Given the description of an element on the screen output the (x, y) to click on. 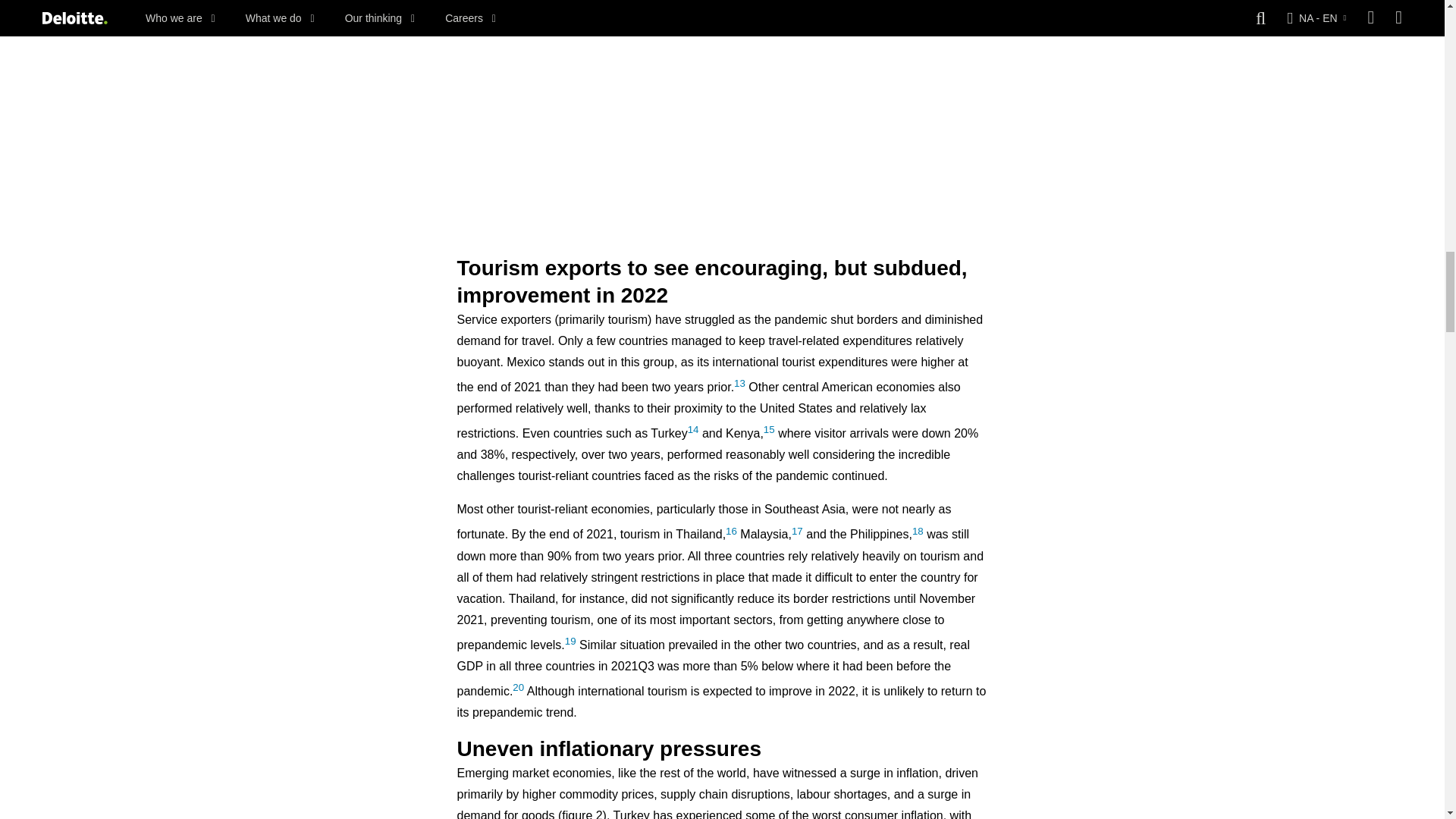
Figure1 (722, 103)
